Given the description of an element on the screen output the (x, y) to click on. 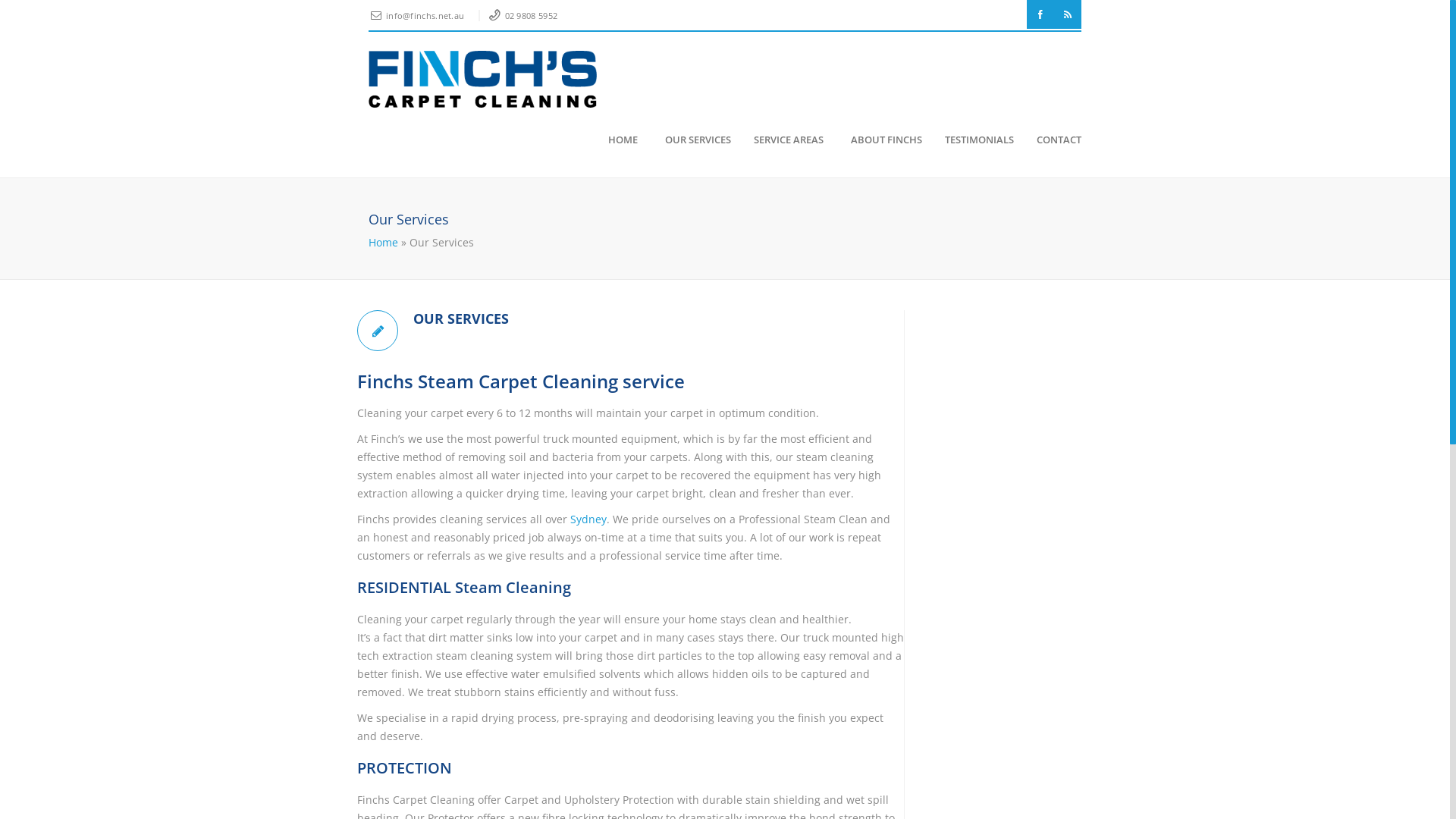
  ABOUT FINCHS Element type: text (877, 139)
TESTIMONIALS Element type: text (972, 139)
  OUR SERVICES Element type: text (688, 139)
Facebook Element type: hover (1040, 14)
Home Element type: text (383, 242)
Text Element type: hover (376, 330)
Sydney Element type: text (588, 518)
SERVICE AREAS Element type: text (781, 139)
HOME Element type: text (615, 139)
CONTACT Element type: text (1051, 139)
Finchs Carpet Cleaning Element type: hover (482, 78)
OUR SERVICES Element type: text (658, 318)
